Given the description of an element on the screen output the (x, y) to click on. 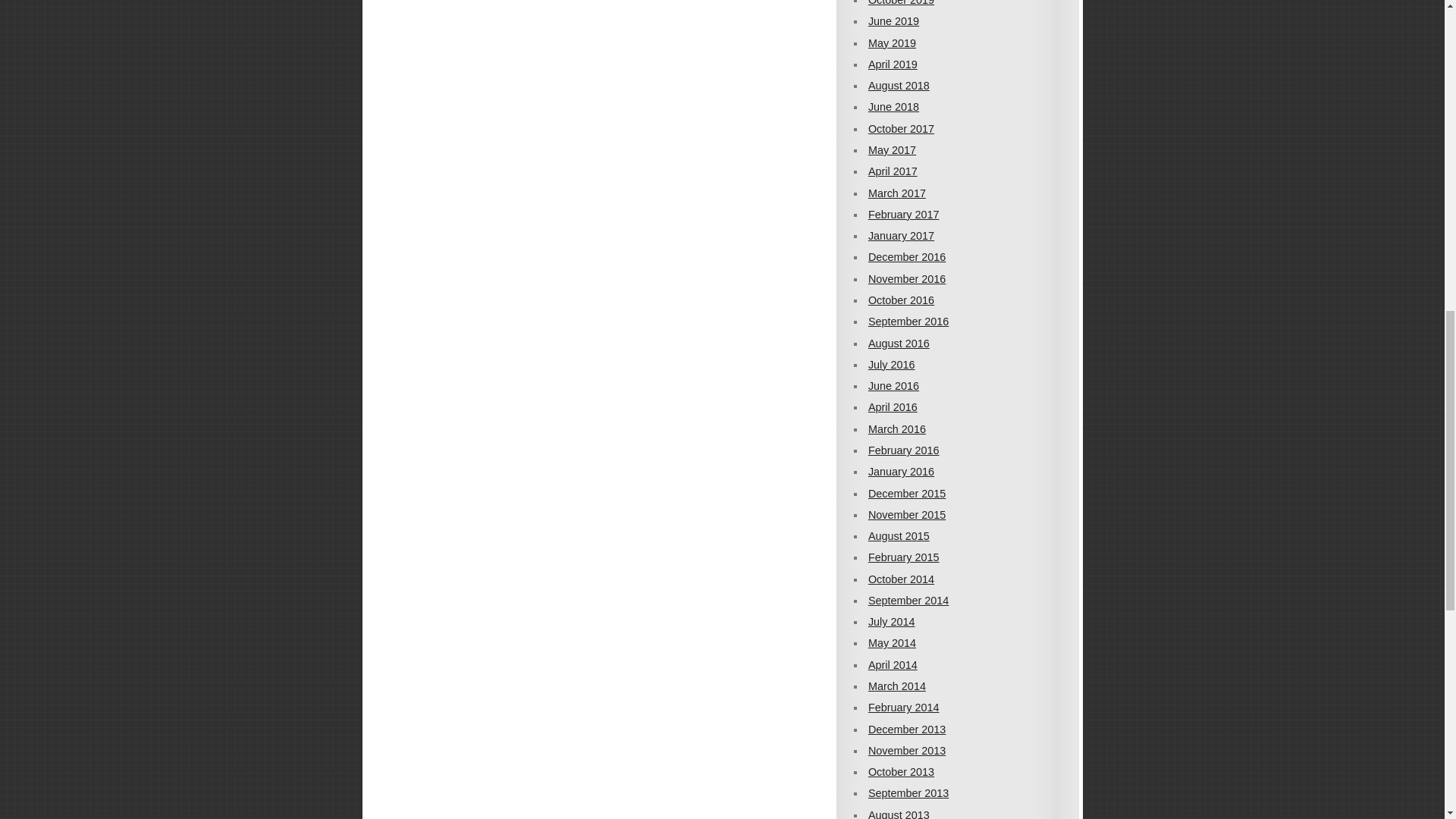
April 2019 (892, 64)
August 2018 (898, 85)
June 2018 (892, 106)
June 2019 (892, 21)
April 2017 (892, 171)
May 2019 (891, 42)
October 2019 (900, 2)
October 2017 (900, 128)
May 2017 (891, 150)
